Given the description of an element on the screen output the (x, y) to click on. 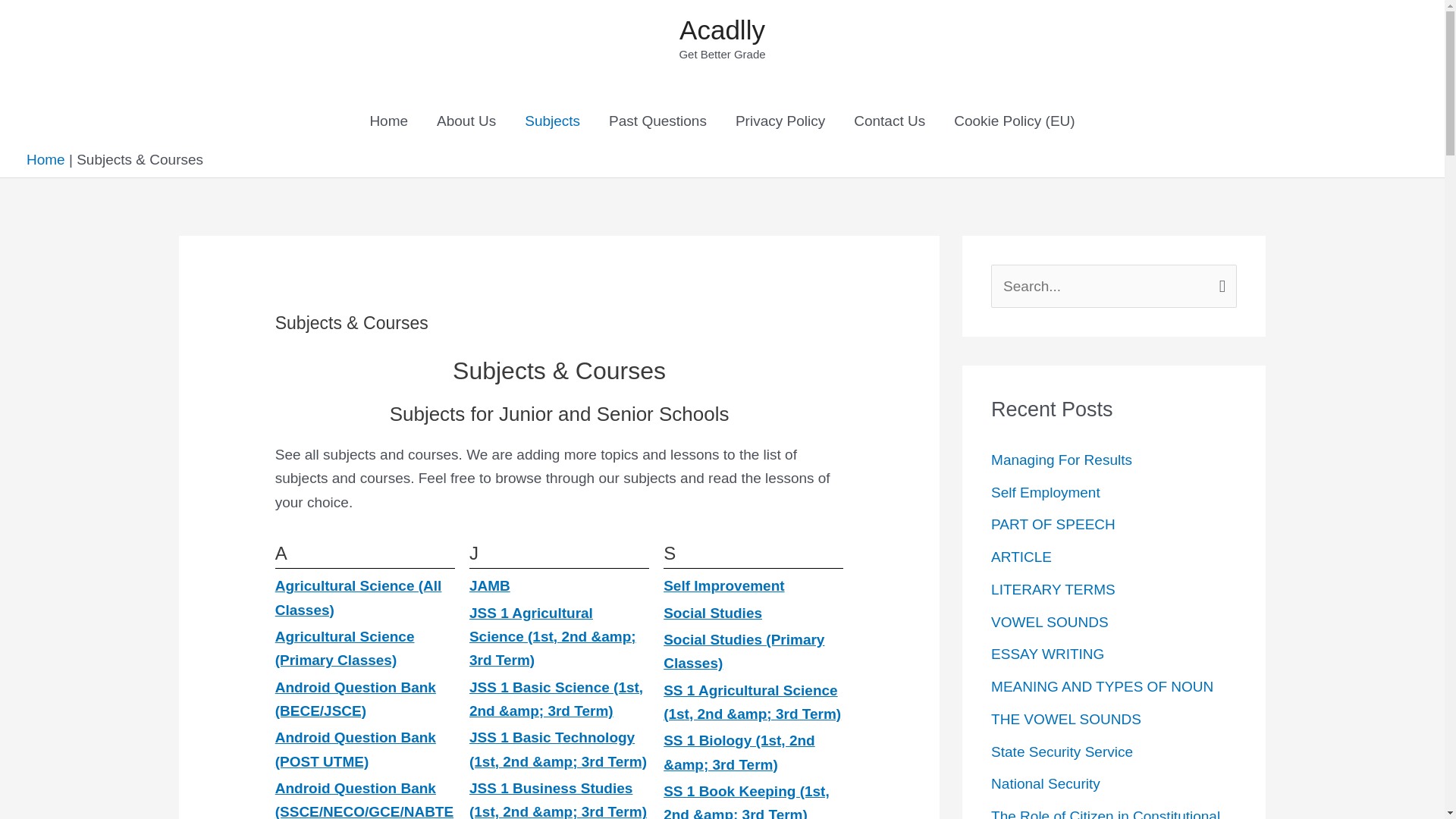
Contact Us (889, 120)
Acadlly (722, 30)
Privacy Policy (780, 120)
Home (388, 120)
About Us (466, 120)
Subjects (552, 120)
Past Questions (657, 120)
Home (45, 159)
